Given the description of an element on the screen output the (x, y) to click on. 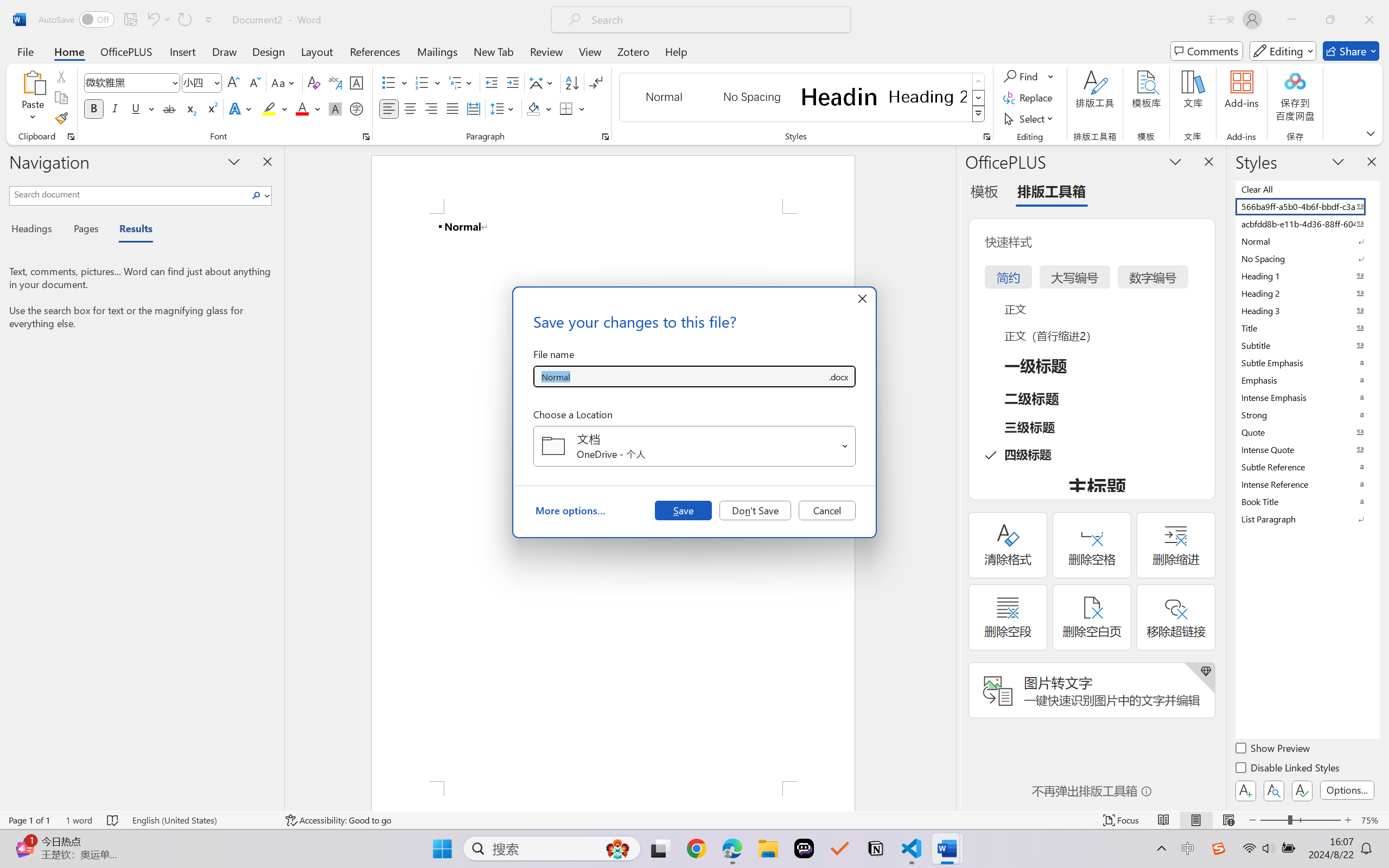
Choose a Location (694, 446)
Cancel (826, 509)
Class: MsoCommandBar (694, 819)
Accessibility Checker Accessibility: Good to go (338, 819)
Book Title (1306, 501)
Zoom In (1348, 819)
Superscript (210, 108)
Search document (128, 193)
Class: NetUIImage (978, 114)
Zoom (1300, 819)
Asian Layout (542, 82)
Home (69, 51)
